Given the description of an element on the screen output the (x, y) to click on. 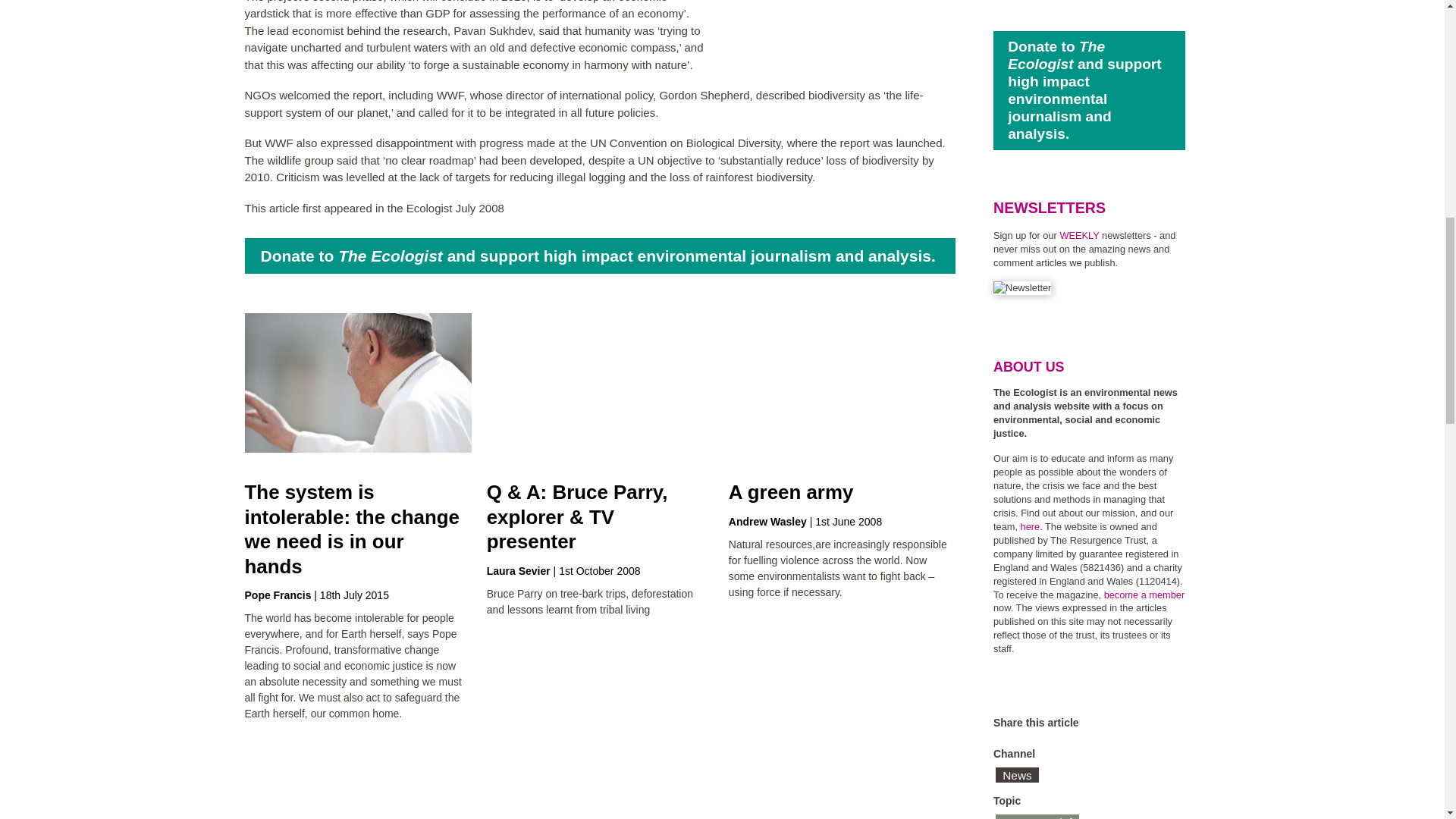
News (1017, 774)
A green army (791, 491)
here (1030, 526)
WEEKLY (1079, 235)
Wednesday, October 1, 2008 - 00:00 (599, 571)
Sunday, June 1, 2008 - 00:00 (848, 521)
Saturday, July 18, 2015 - 00:00 (354, 594)
